Given the description of an element on the screen output the (x, y) to click on. 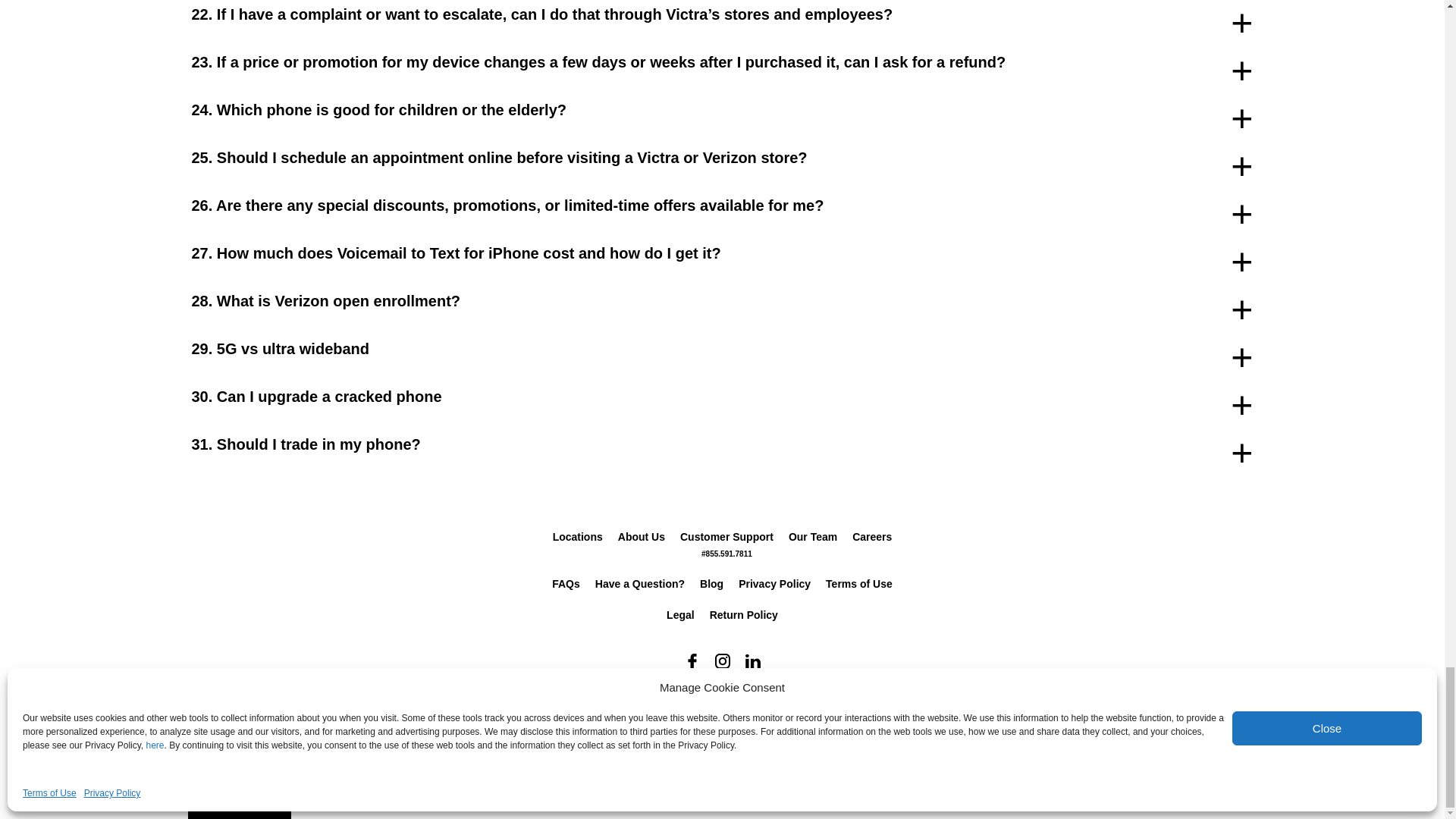
Instagram (721, 661)
Facebook (691, 661)
Linkedin (751, 661)
